Given the description of an element on the screen output the (x, y) to click on. 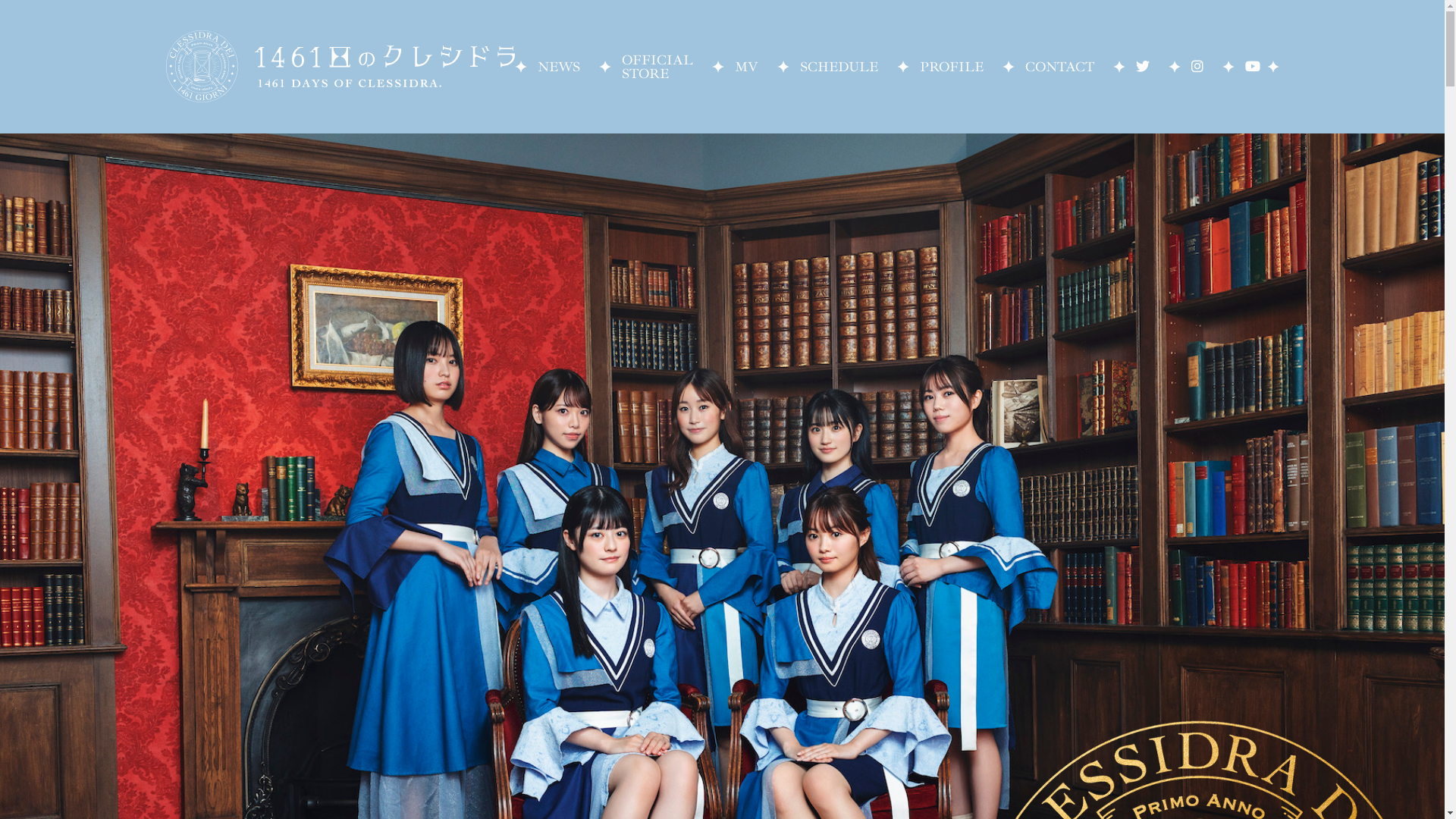
MV Element type: text (745, 66)
NEWS Element type: text (557, 66)
CONTACT Element type: text (1059, 66)
SCHEDULE Element type: text (838, 66)
PROFILE Element type: text (950, 66)
OFFICIAL STORE Element type: text (657, 66)
